Given the description of an element on the screen output the (x, y) to click on. 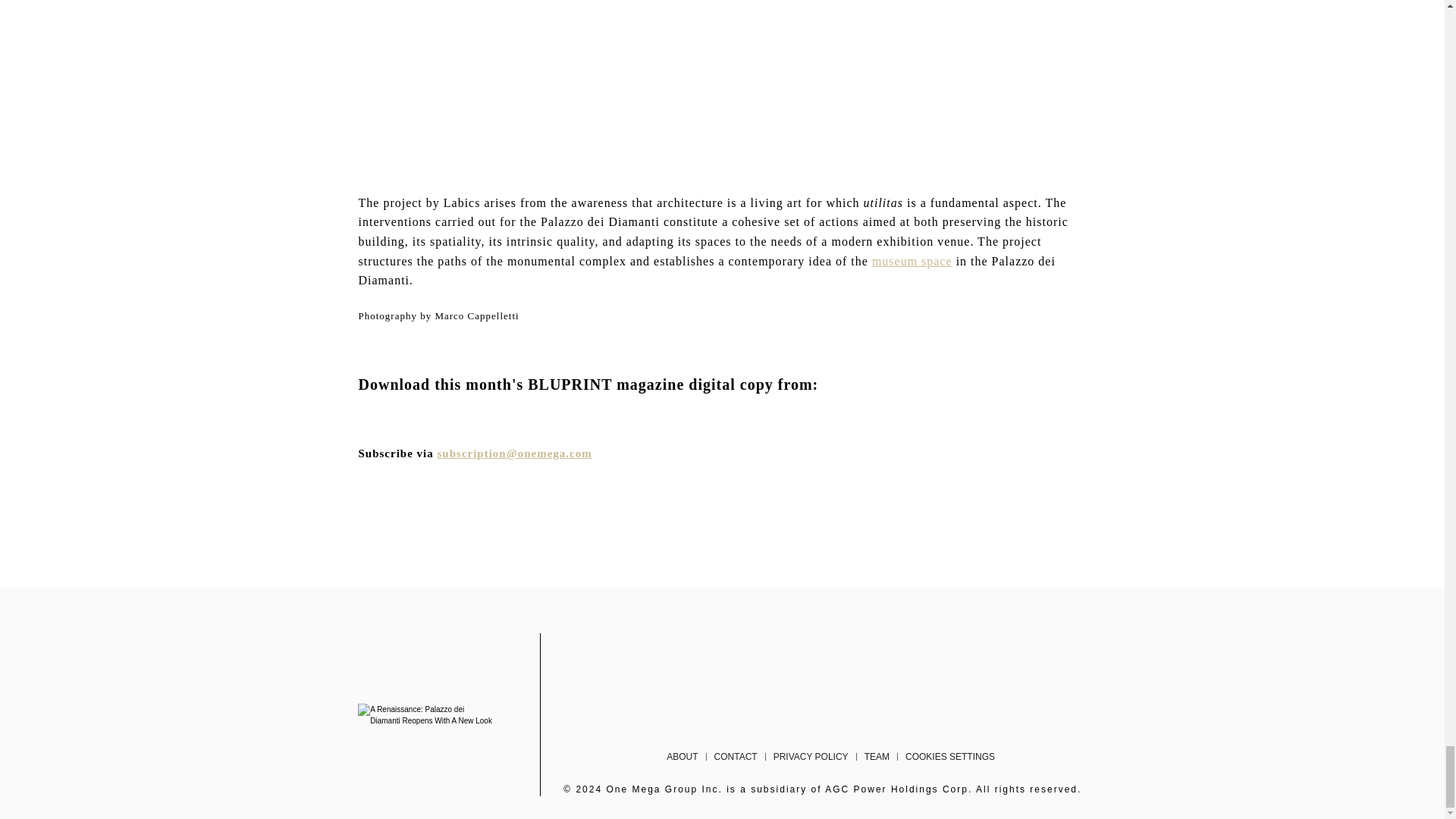
PRIVACY POLICY (810, 756)
TEAM (876, 756)
A Renaissance: Palazzo dei Diamanti Reopens With A New Look (426, 714)
Subscribe now! (515, 453)
CONTACT (735, 756)
ABOUT (681, 756)
museum space (912, 260)
